Given the description of an element on the screen output the (x, y) to click on. 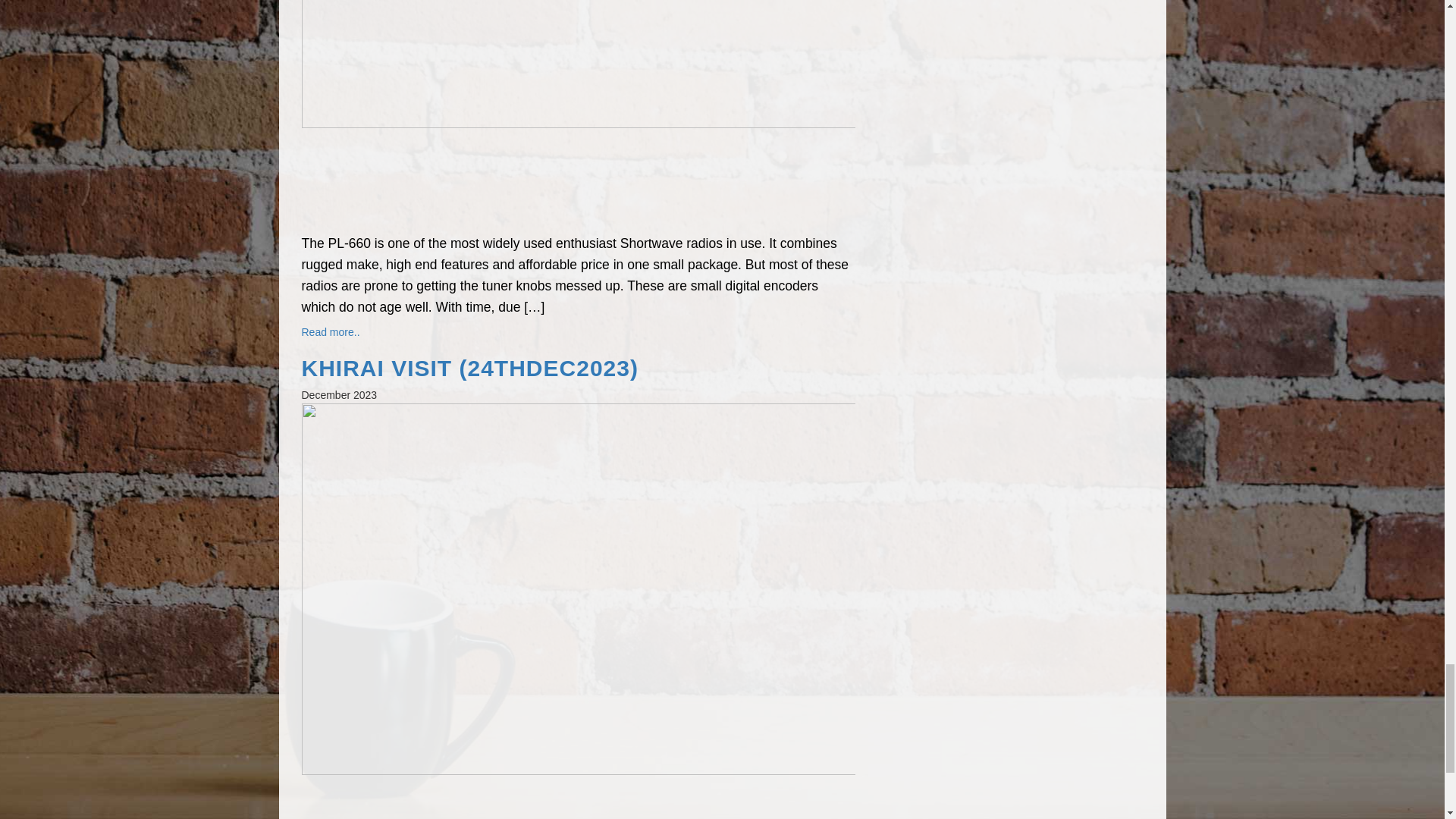
Read more.. (330, 331)
